Given the description of an element on the screen output the (x, y) to click on. 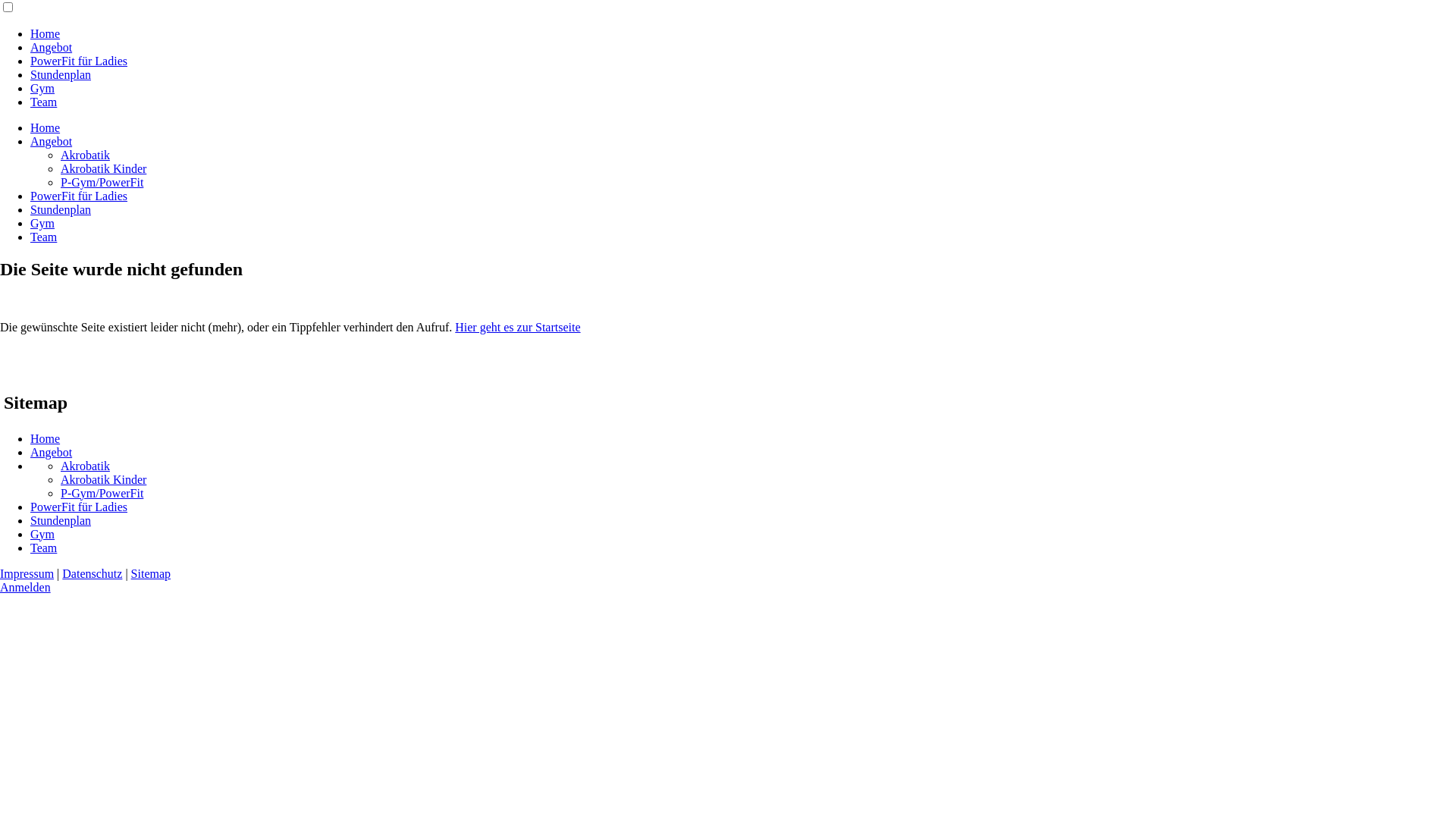
Sitemap Element type: text (150, 573)
Home Element type: text (44, 438)
Gym Element type: text (42, 533)
Stundenplan Element type: text (60, 520)
Anmelden Element type: text (25, 586)
Gym Element type: text (42, 87)
Home Element type: text (44, 33)
Team Element type: text (43, 101)
Angebot Element type: text (51, 46)
P-Gym/PowerFit Element type: text (101, 181)
Akrobatik Kinder Element type: text (103, 168)
Team Element type: text (43, 236)
Akrobatik Element type: text (84, 465)
P-Gym/PowerFit Element type: text (101, 492)
Stundenplan Element type: text (60, 209)
Stundenplan Element type: text (60, 74)
Angebot Element type: text (51, 140)
Team Element type: text (43, 547)
Angebot Element type: text (51, 451)
Home Element type: text (44, 127)
Akrobatik Kinder Element type: text (103, 479)
Datenschutz Element type: text (92, 573)
Akrobatik Element type: text (84, 154)
Hier geht es zur Startseite Element type: text (517, 326)
Gym Element type: text (42, 222)
Impressum Element type: text (26, 573)
